Given the description of an element on the screen output the (x, y) to click on. 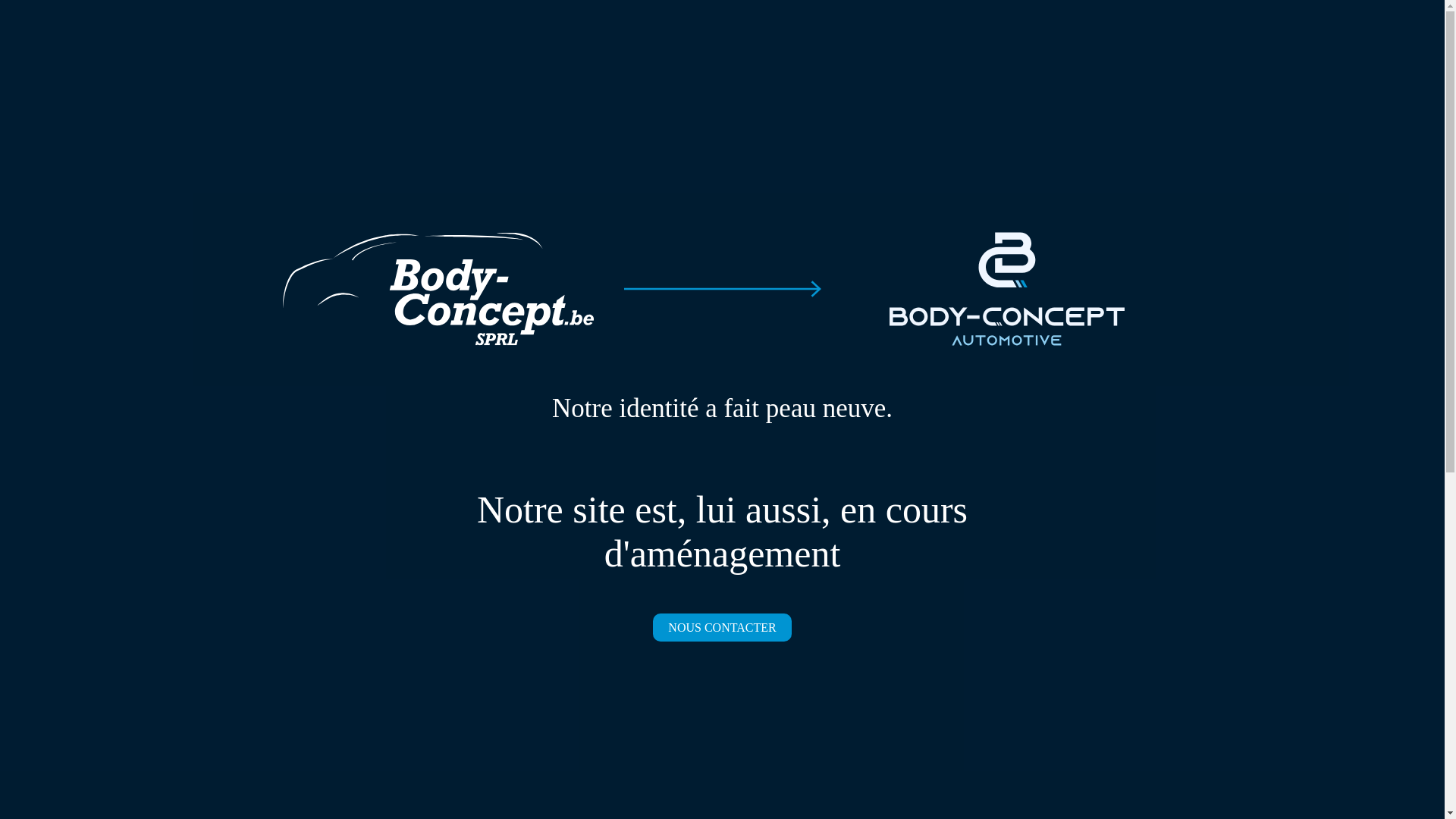
NOUS CONTACTER Element type: text (721, 627)
